Given the description of an element on the screen output the (x, y) to click on. 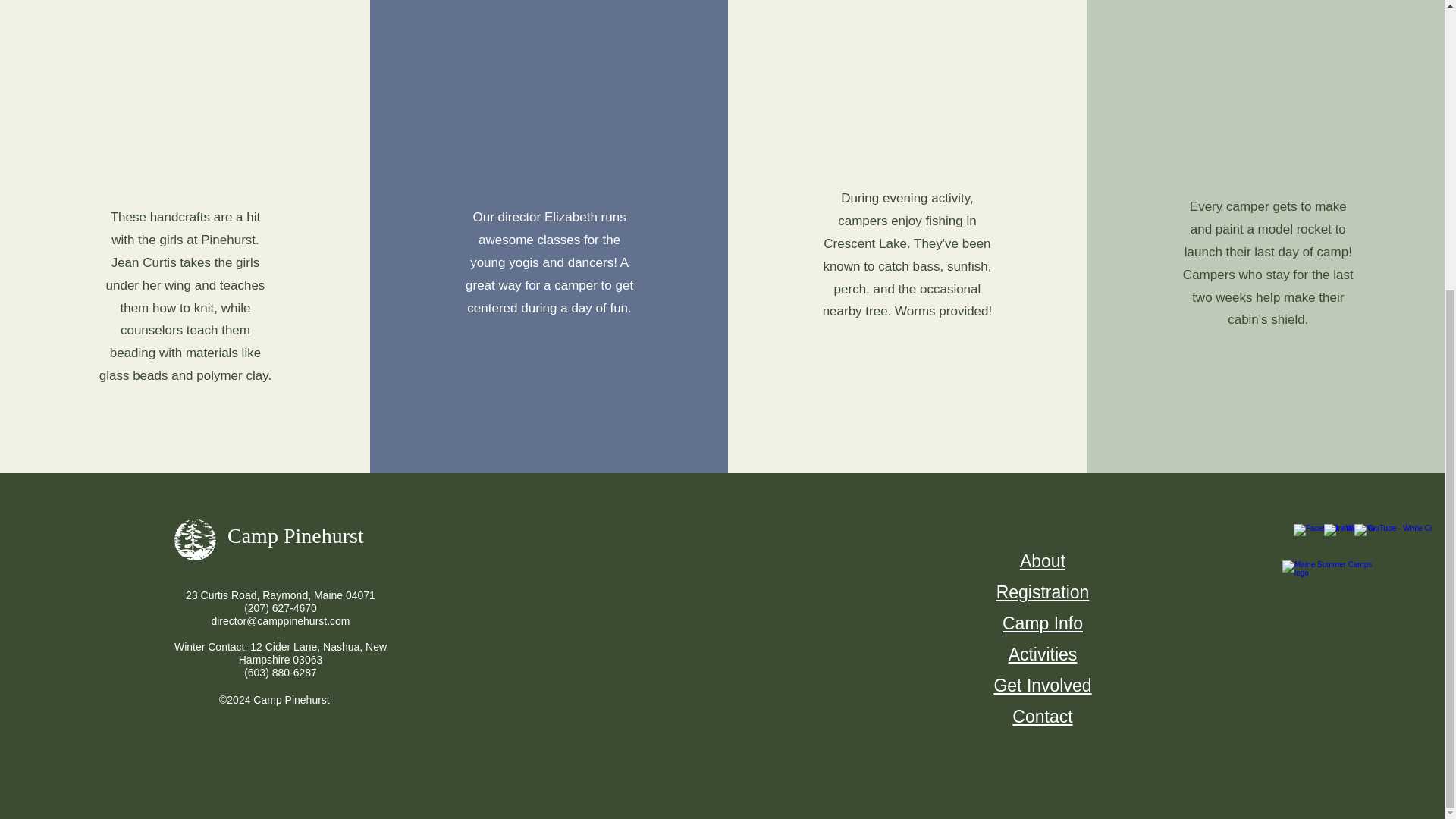
Get Involved (1041, 686)
Camp Pinehurst (295, 535)
Registration (1042, 591)
Activities (1043, 654)
About (1042, 560)
Camp Info (1043, 623)
